Given the description of an element on the screen output the (x, y) to click on. 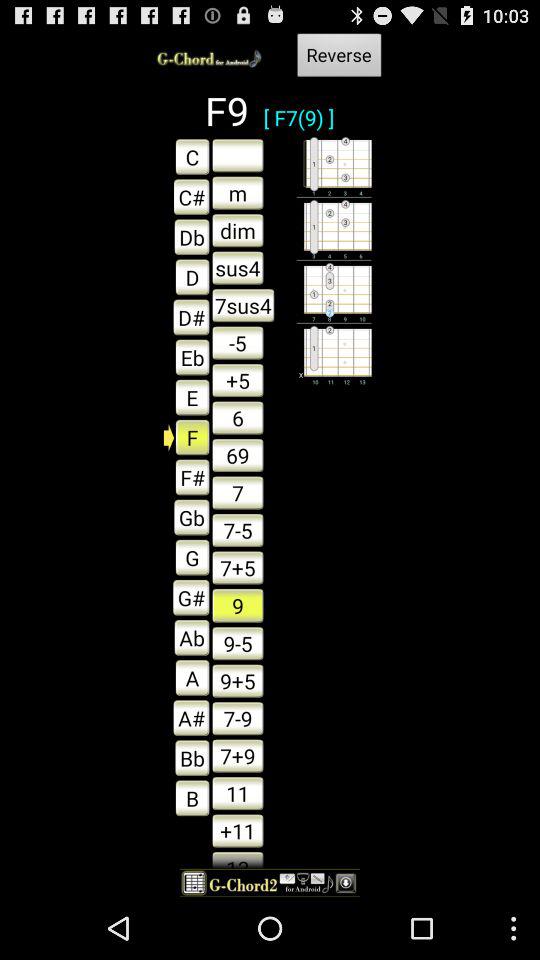
swipe to the 13 icon (237, 858)
